Given the description of an element on the screen output the (x, y) to click on. 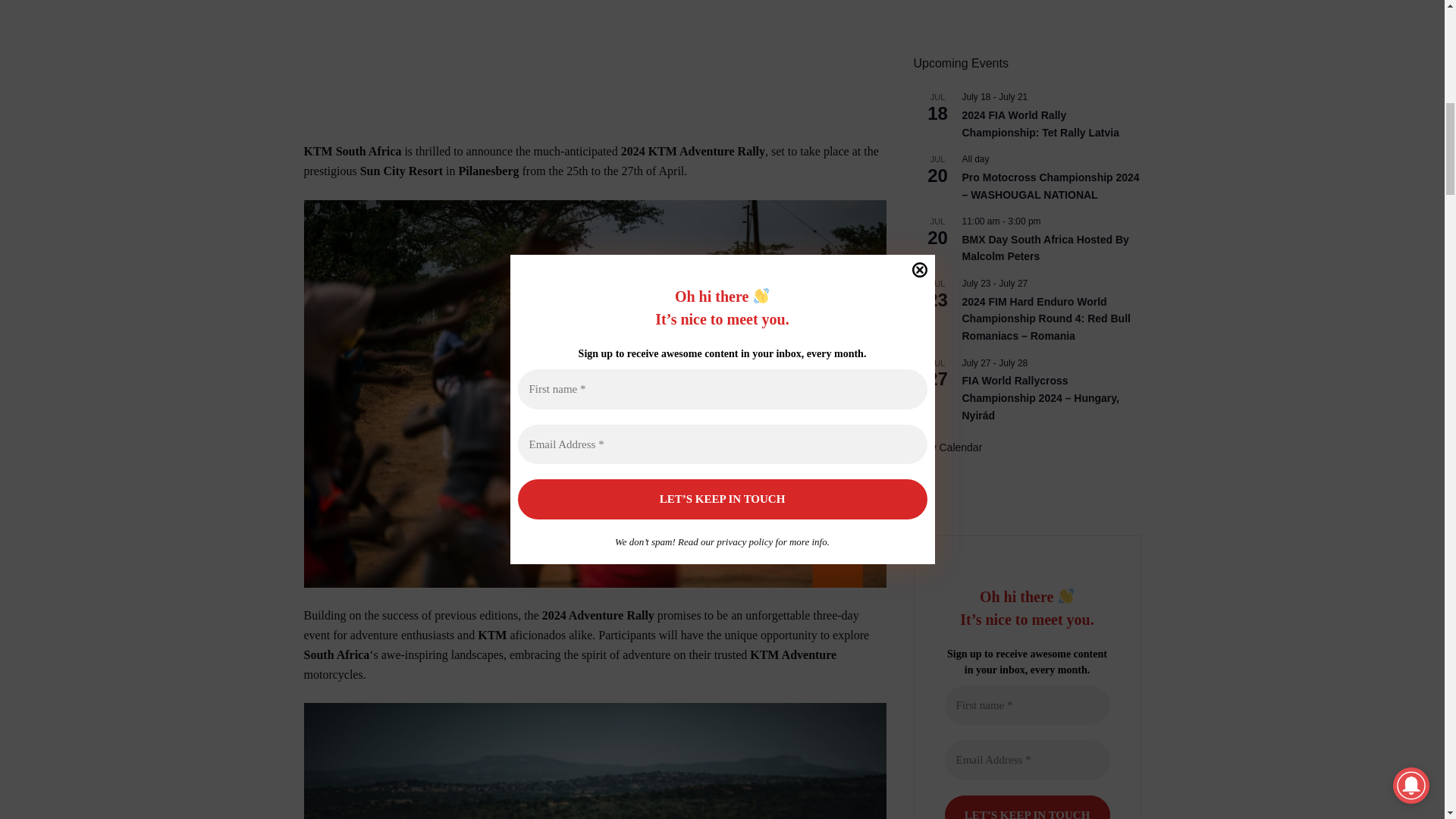
2024 FIA World Rally Championship: Tet Rally Latvia (1039, 123)
Advertisement (593, 48)
BMX Day South Africa Hosted By Malcolm Peters (1044, 248)
